Given the description of an element on the screen output the (x, y) to click on. 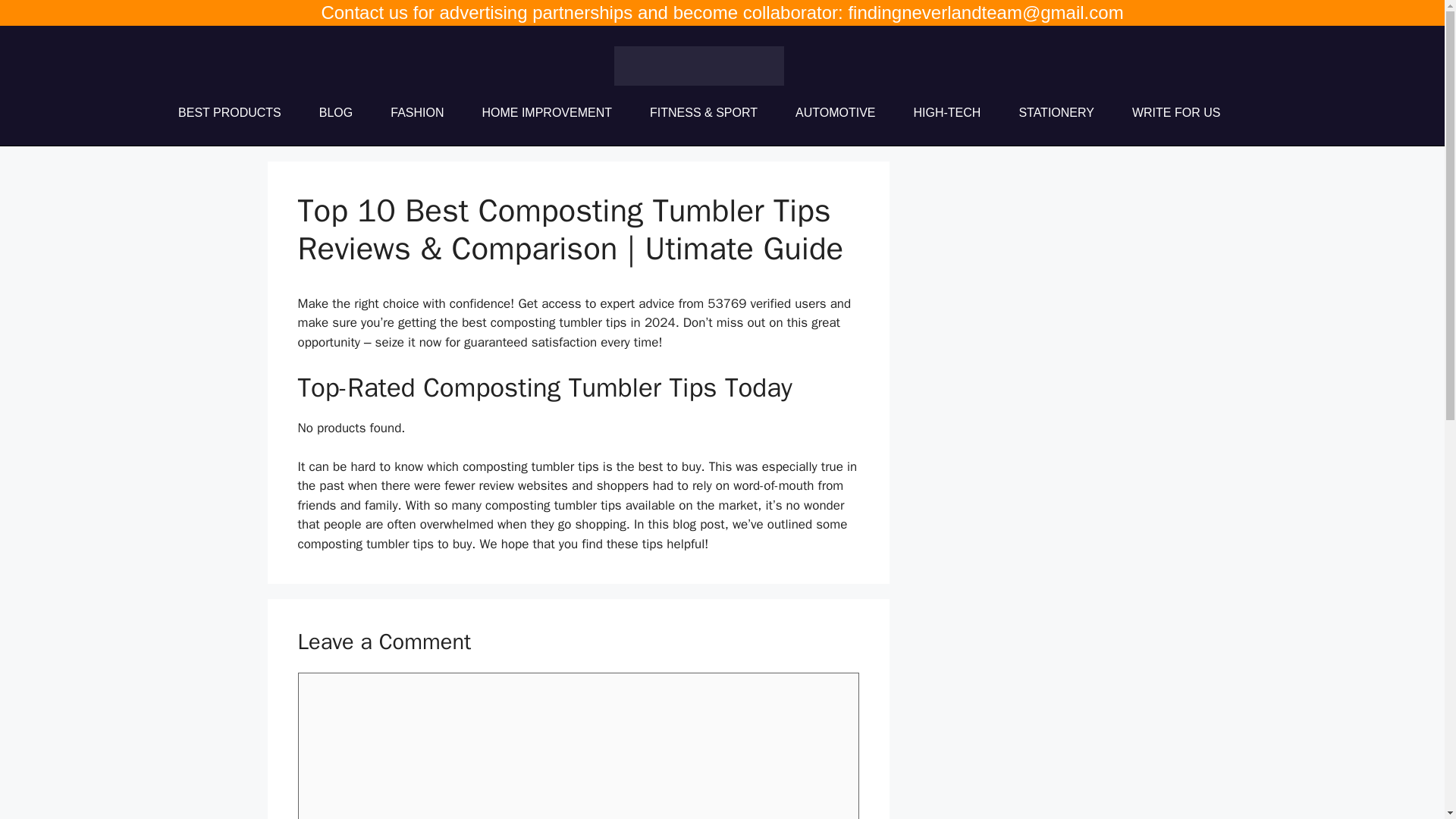
AUTOMOTIVE (835, 112)
FASHION (417, 112)
BLOG (335, 112)
STATIONERY (1055, 112)
HOME IMPROVEMENT (546, 112)
WRITE FOR US (1176, 112)
BEST PRODUCTS (229, 112)
HIGH-TECH (945, 112)
